Given the description of an element on the screen output the (x, y) to click on. 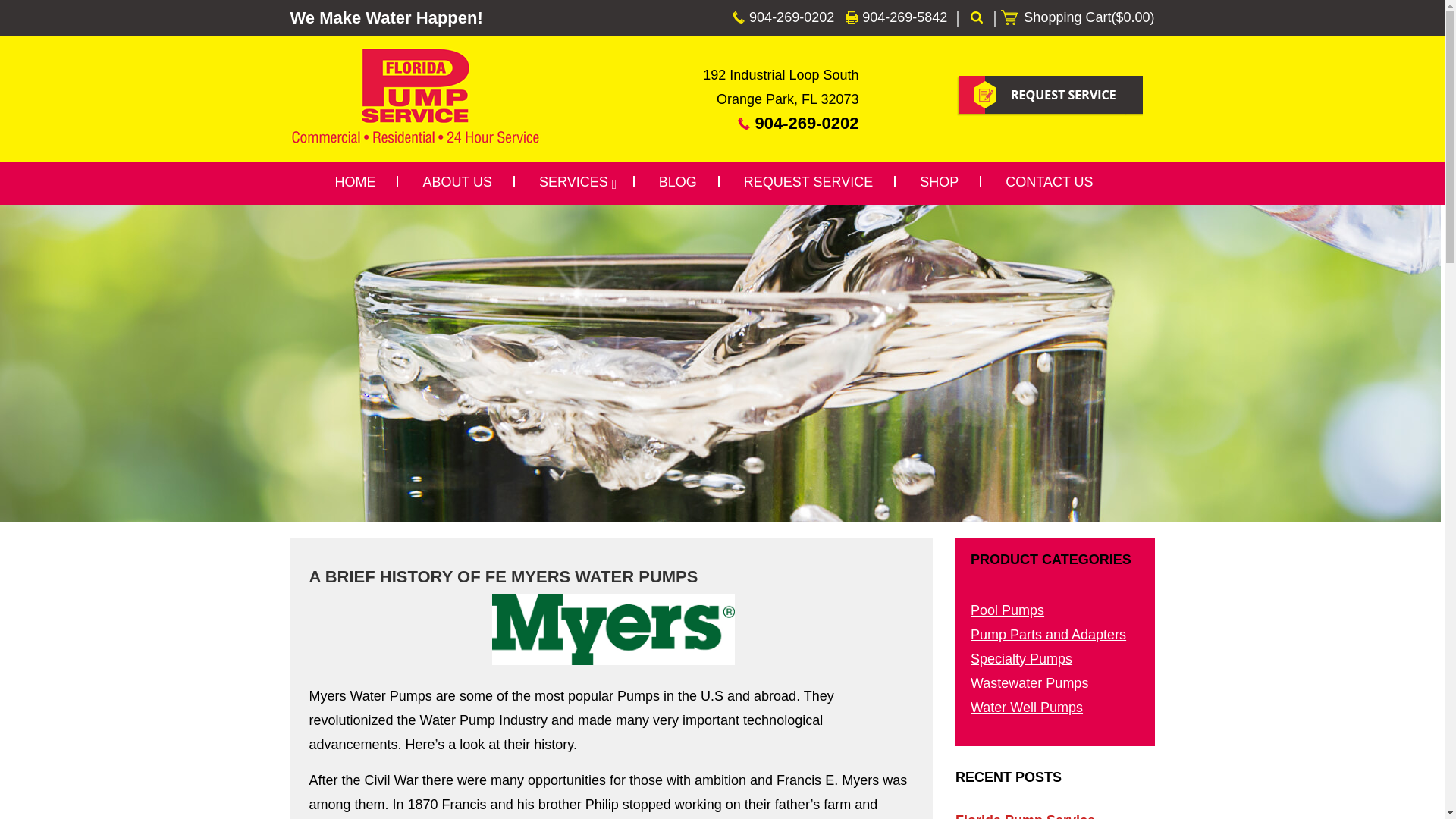
SERVICES (575, 182)
REQUEST SERVICE (808, 182)
CONTACT US (1049, 182)
BLOG (677, 182)
HOME (354, 182)
Pump Parts and Adapters (1048, 634)
Wastewater Pumps (1029, 683)
Pool Pumps (1007, 610)
Specialty Pumps (1021, 658)
SHOP (939, 182)
ABOUT US (456, 182)
